Given the description of an element on the screen output the (x, y) to click on. 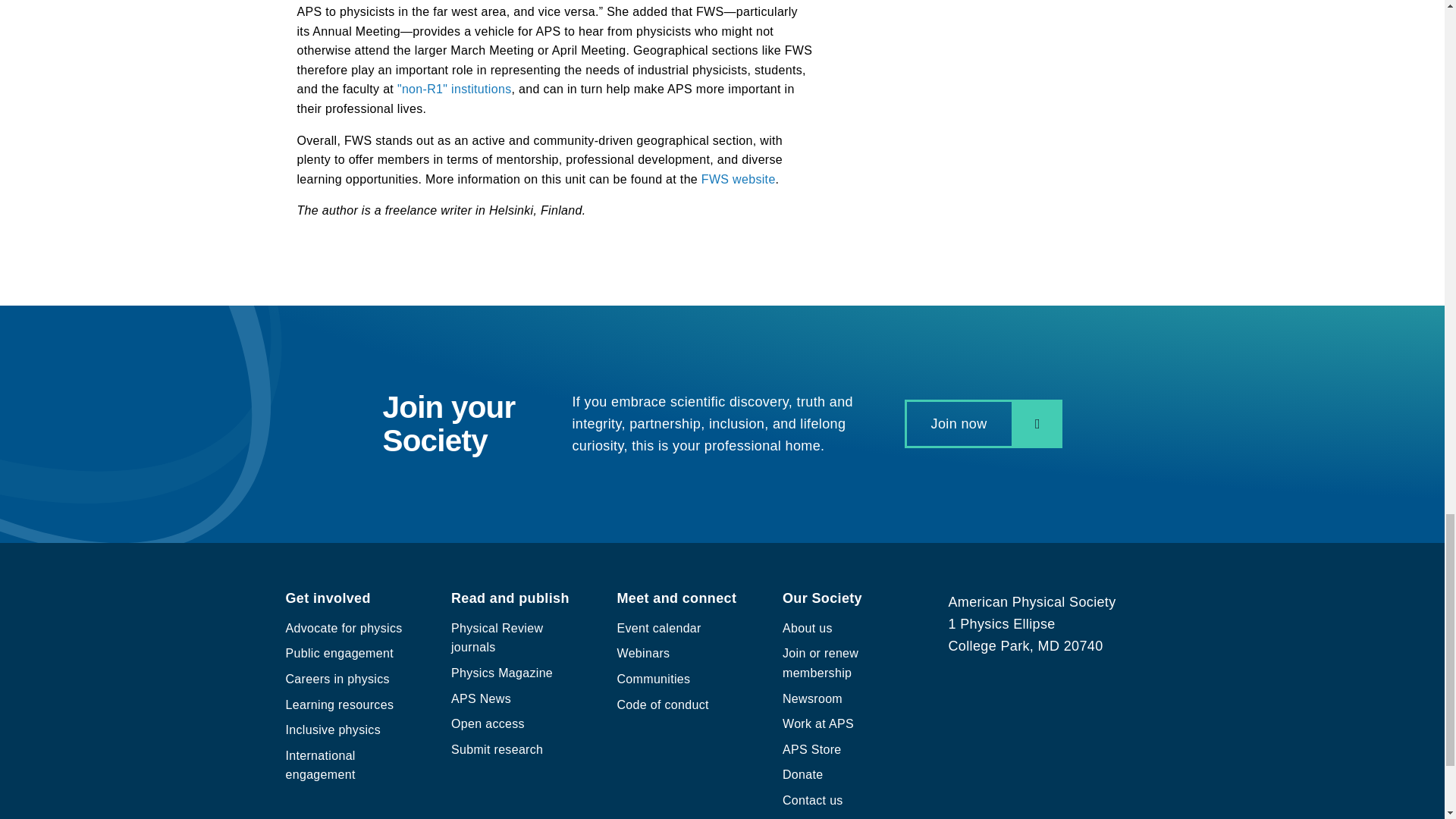
Webinars (643, 653)
Advocate for physics (343, 627)
APS News (481, 698)
Physical Review journals (497, 637)
Communities (653, 678)
Inclusive physics (332, 729)
Learning resources (339, 704)
Submit research (497, 748)
Careers in physics (336, 678)
Join now (983, 423)
Code of conduct (663, 704)
Physics Magazine (502, 672)
Open access (487, 723)
Public engagement (339, 653)
Event calendar (659, 627)
